Given the description of an element on the screen output the (x, y) to click on. 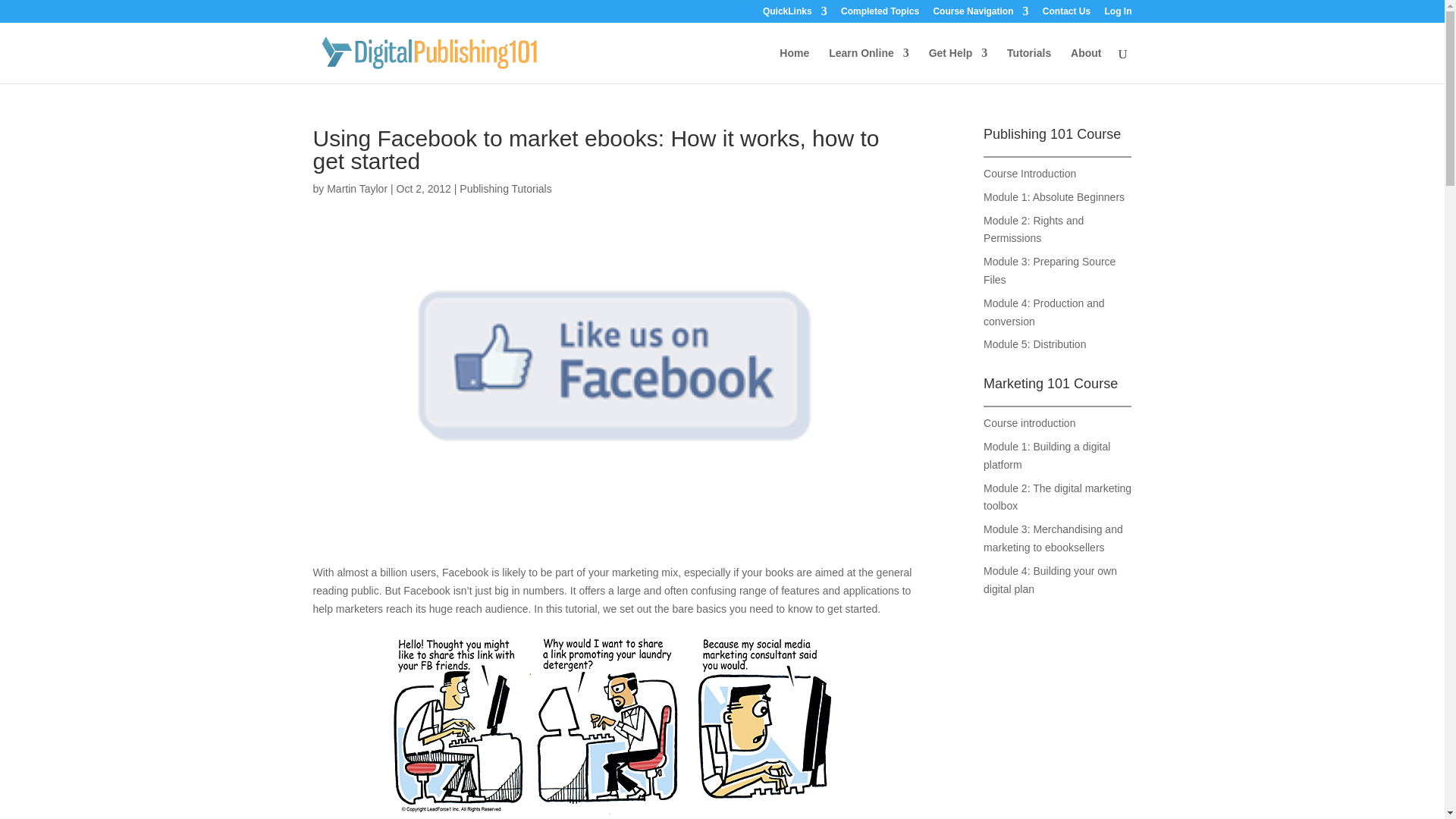
Course Navigation (980, 14)
Completed Topics (879, 14)
Tutorials (1029, 65)
Get Help (958, 65)
Home (793, 65)
Learn Online (868, 65)
About (1085, 65)
Log In (1117, 14)
QuickLinks (794, 14)
Contact Us (1066, 14)
Posts by Martin Taylor (356, 188)
